Given the description of an element on the screen output the (x, y) to click on. 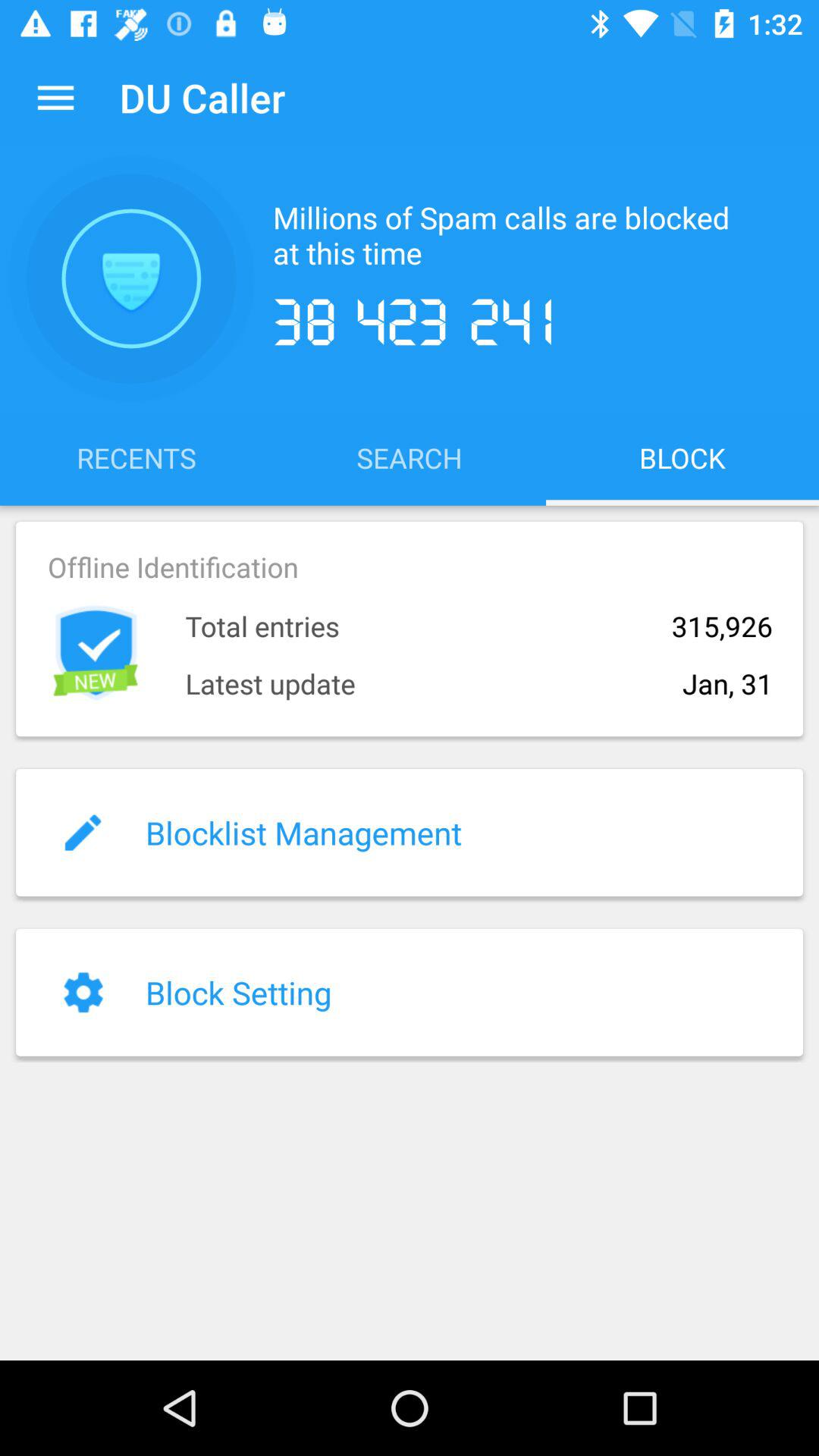
select icon to the left of du caller item (55, 97)
